Given the description of an element on the screen output the (x, y) to click on. 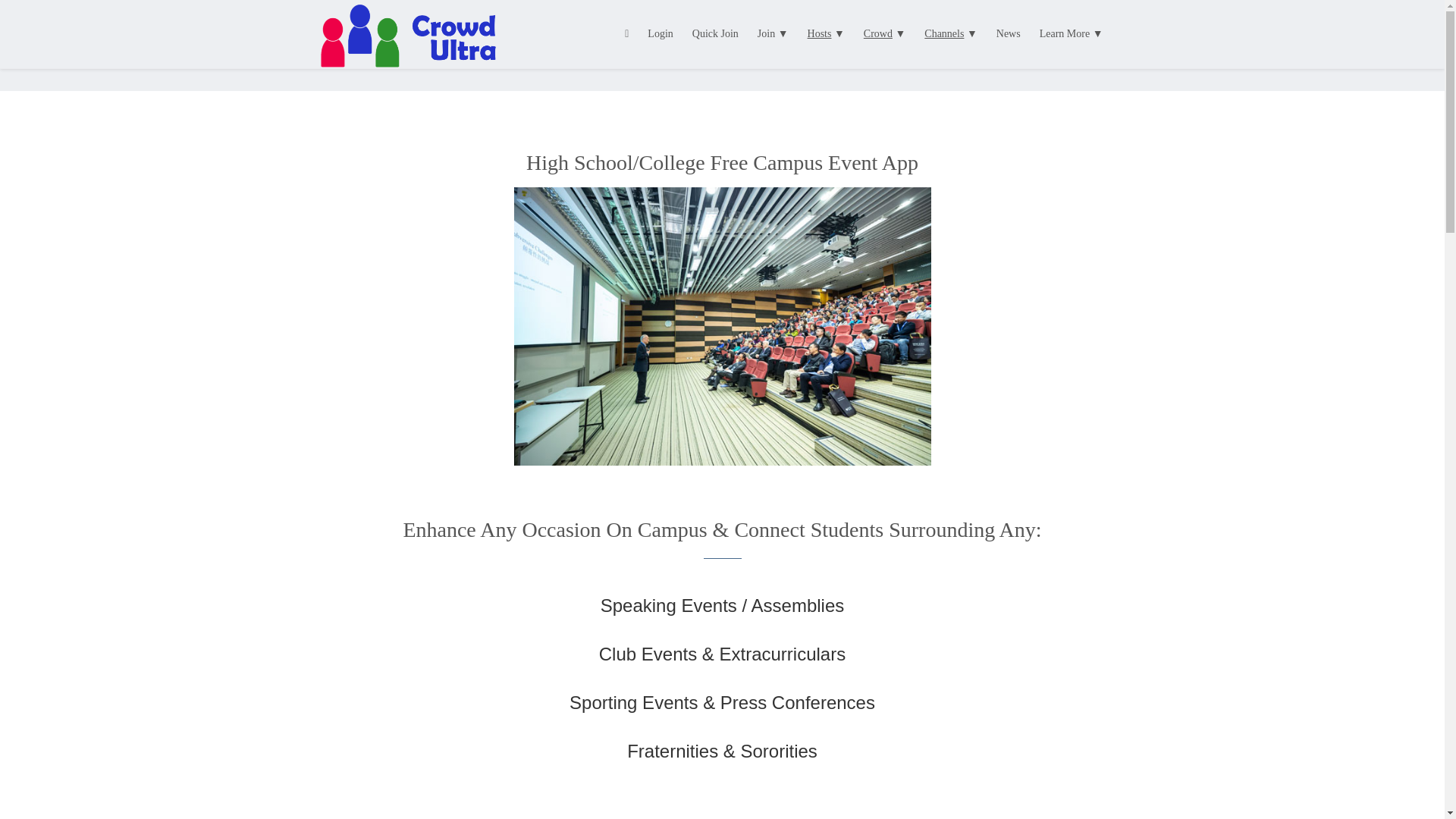
Quick Join (715, 33)
